Given the description of an element on the screen output the (x, y) to click on. 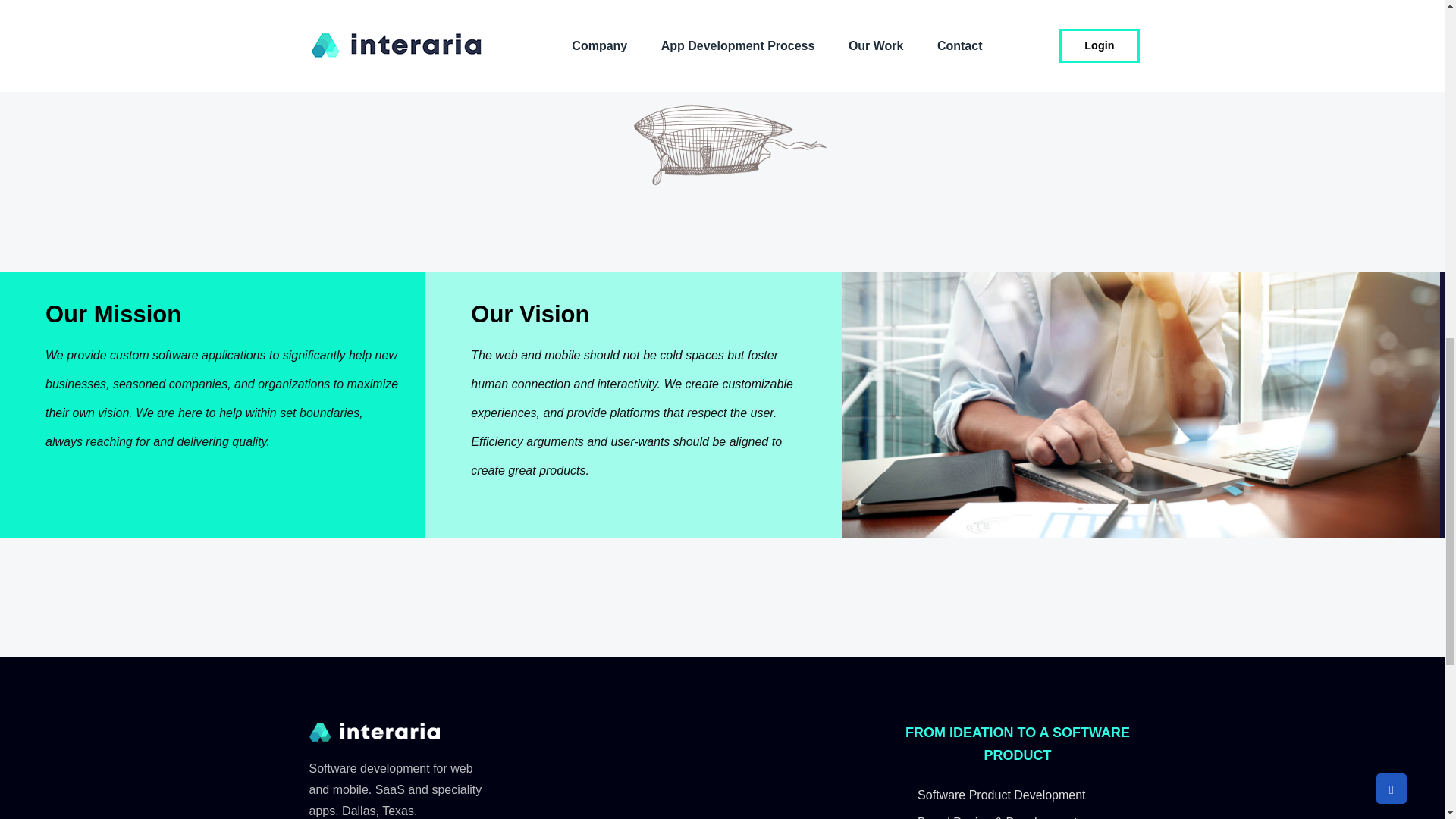
recent project (792, 6)
Software Product Development (1016, 795)
